Given the description of an element on the screen output the (x, y) to click on. 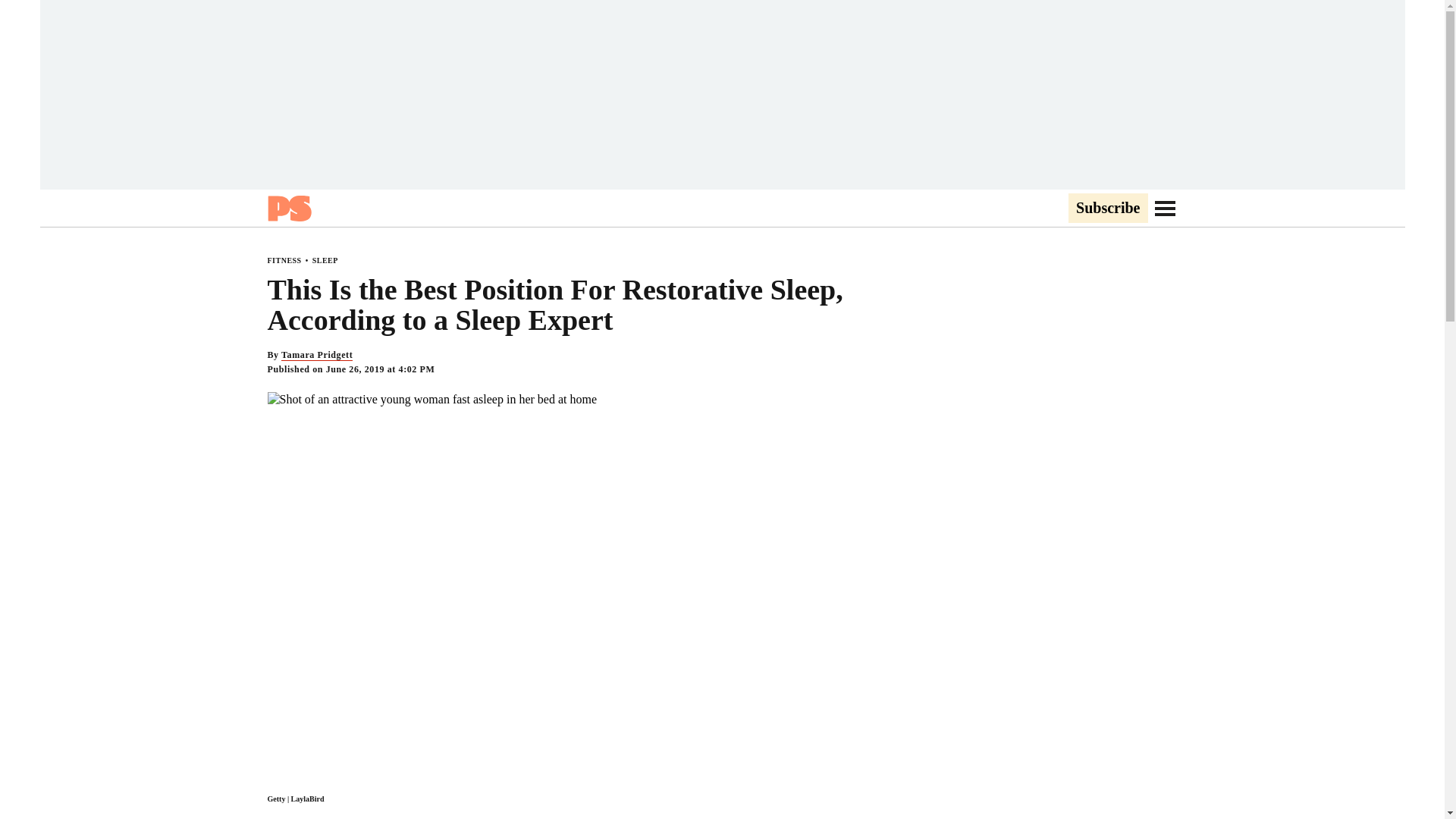
SLEEP (325, 260)
Go to Navigation (1164, 207)
Popsugar (288, 208)
Subscribe (1107, 208)
Tamara Pridgett (316, 355)
Go to Navigation (1164, 207)
FITNESS (283, 260)
